Given the description of an element on the screen output the (x, y) to click on. 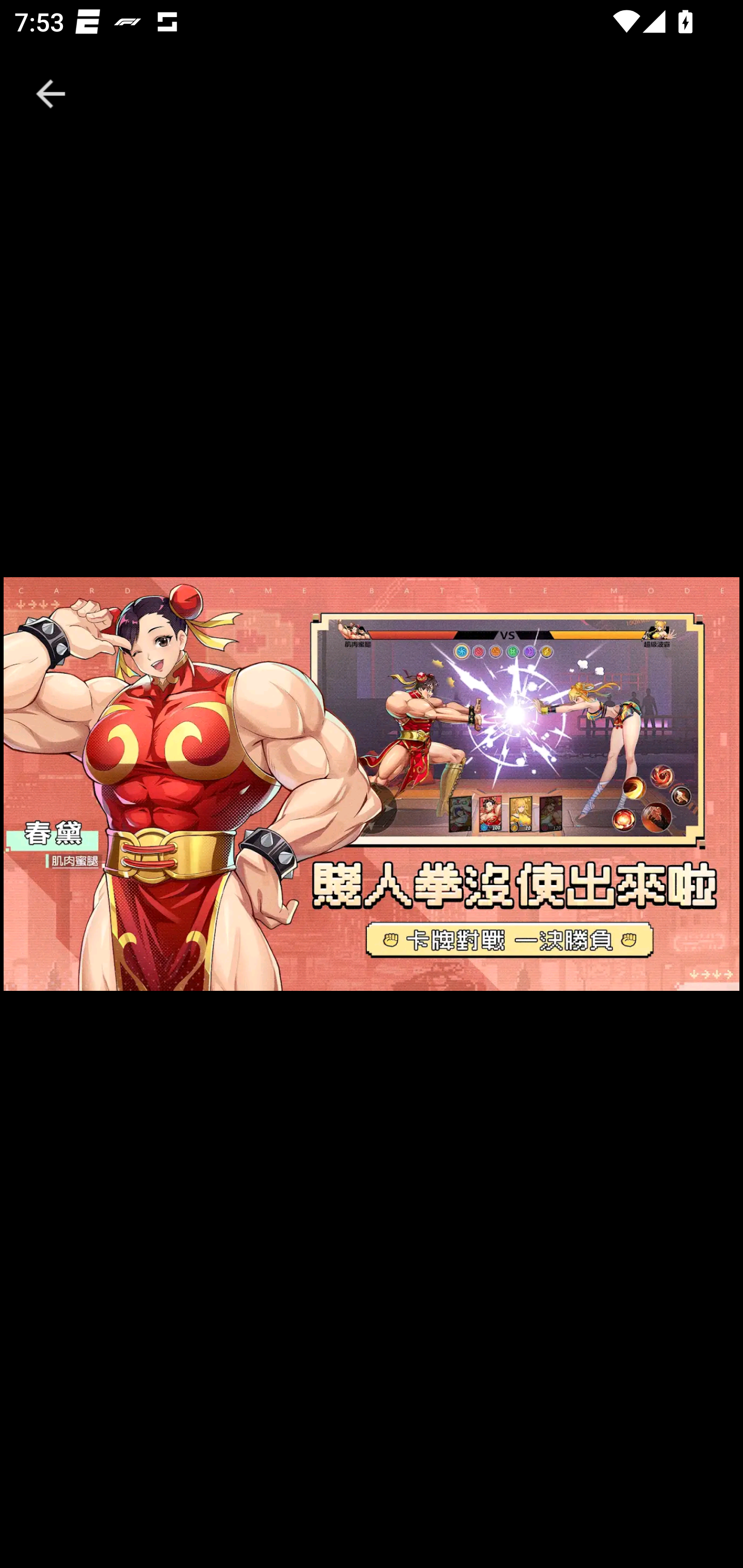
Back (50, 93)
